Given the description of an element on the screen output the (x, y) to click on. 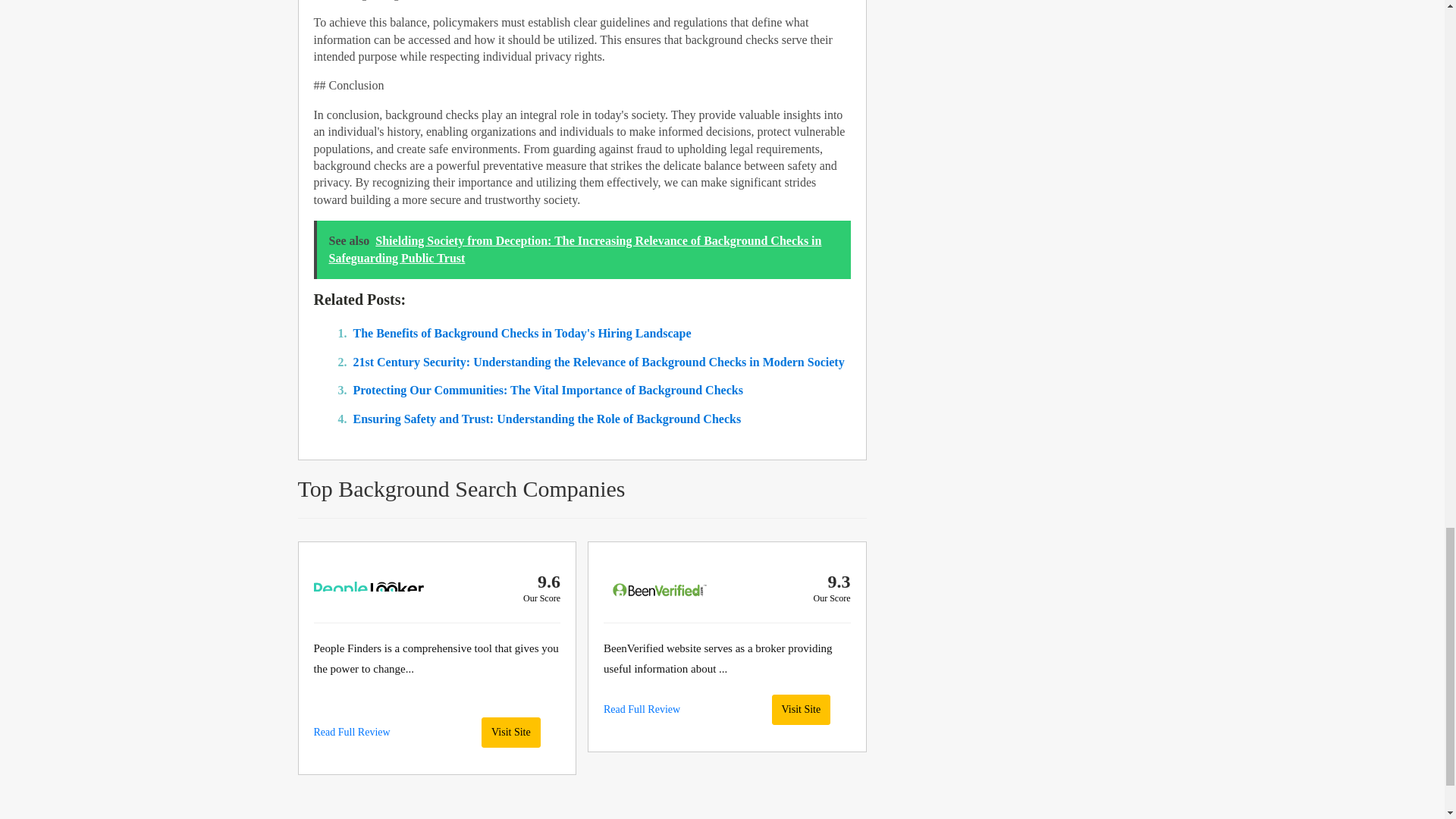
Visit Site (510, 732)
Read Full Review (352, 732)
Visit Site (801, 709)
Read Full Review (641, 709)
